Given the description of an element on the screen output the (x, y) to click on. 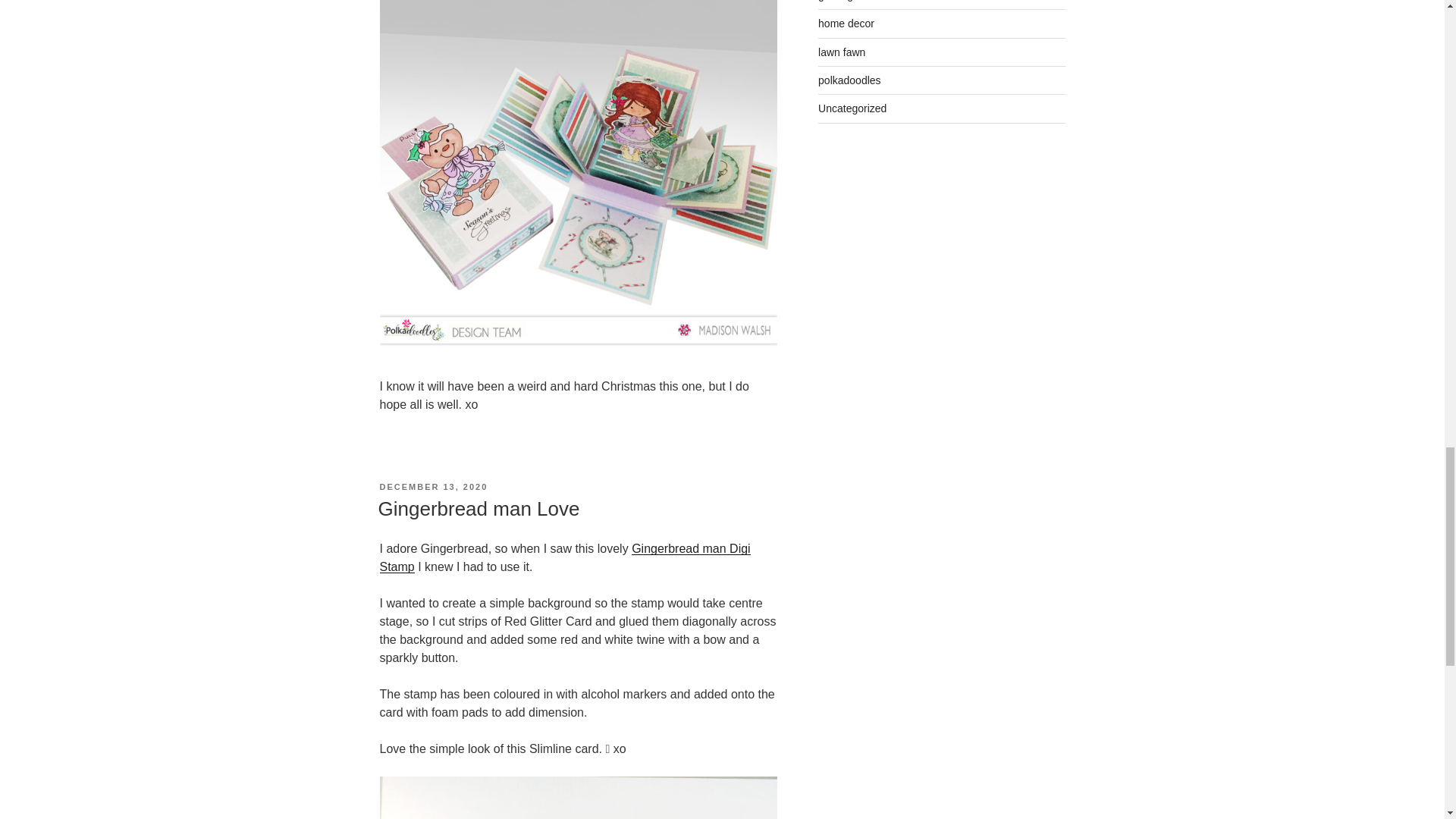
Gingerbread man Digi Stamp (563, 557)
Gingerbread man Love (478, 508)
DECEMBER 13, 2020 (432, 486)
